Given the description of an element on the screen output the (x, y) to click on. 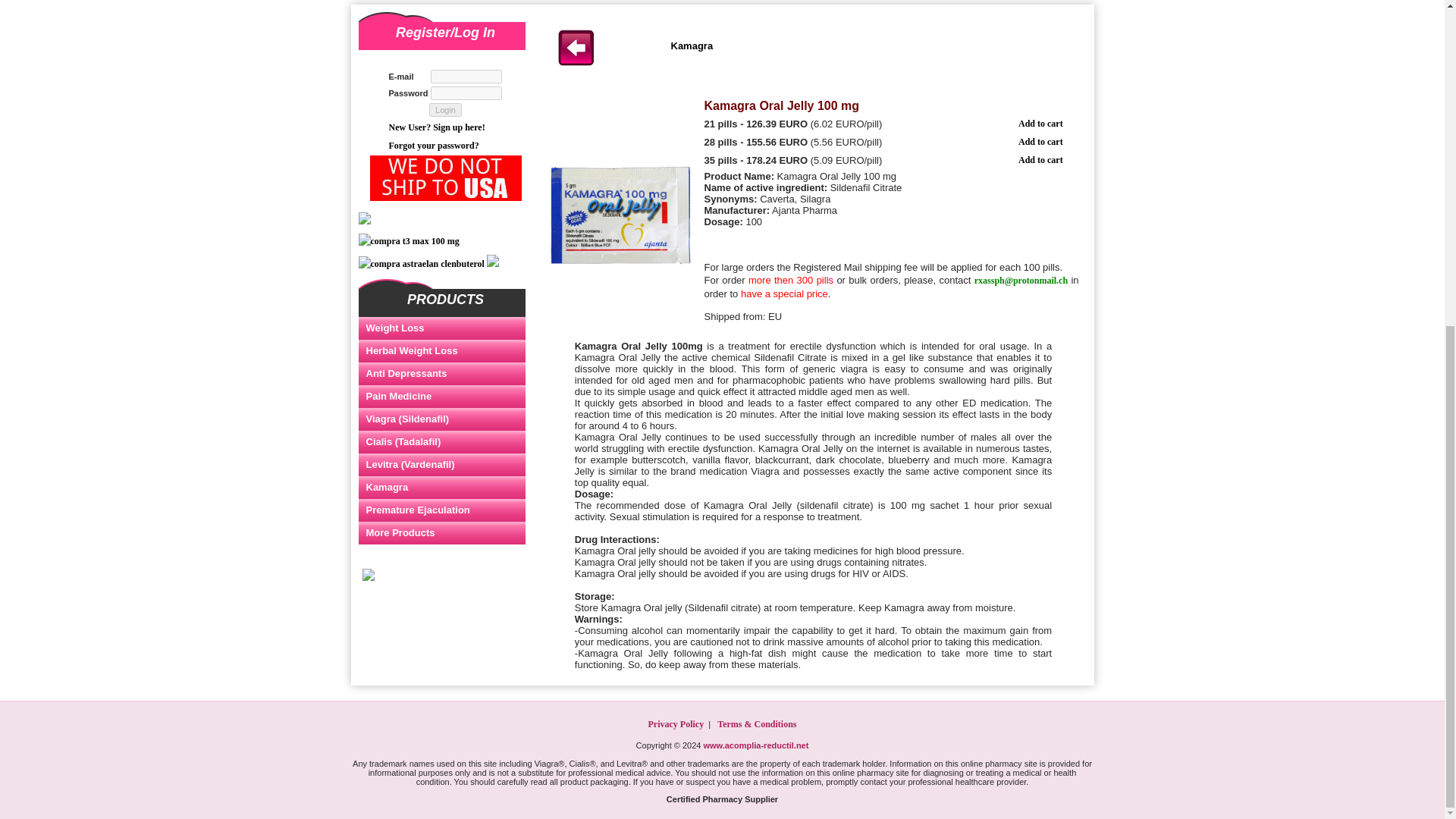
New User? Sign up here! (436, 127)
Premature Ejaculation (441, 509)
Weight Loss (441, 327)
Anti Depressants (441, 373)
Add to cart (1039, 141)
Kamagra (441, 486)
Login (445, 110)
Privacy Policy (675, 724)
Login (445, 110)
Herbal Weight Loss (441, 350)
